Given the description of an element on the screen output the (x, y) to click on. 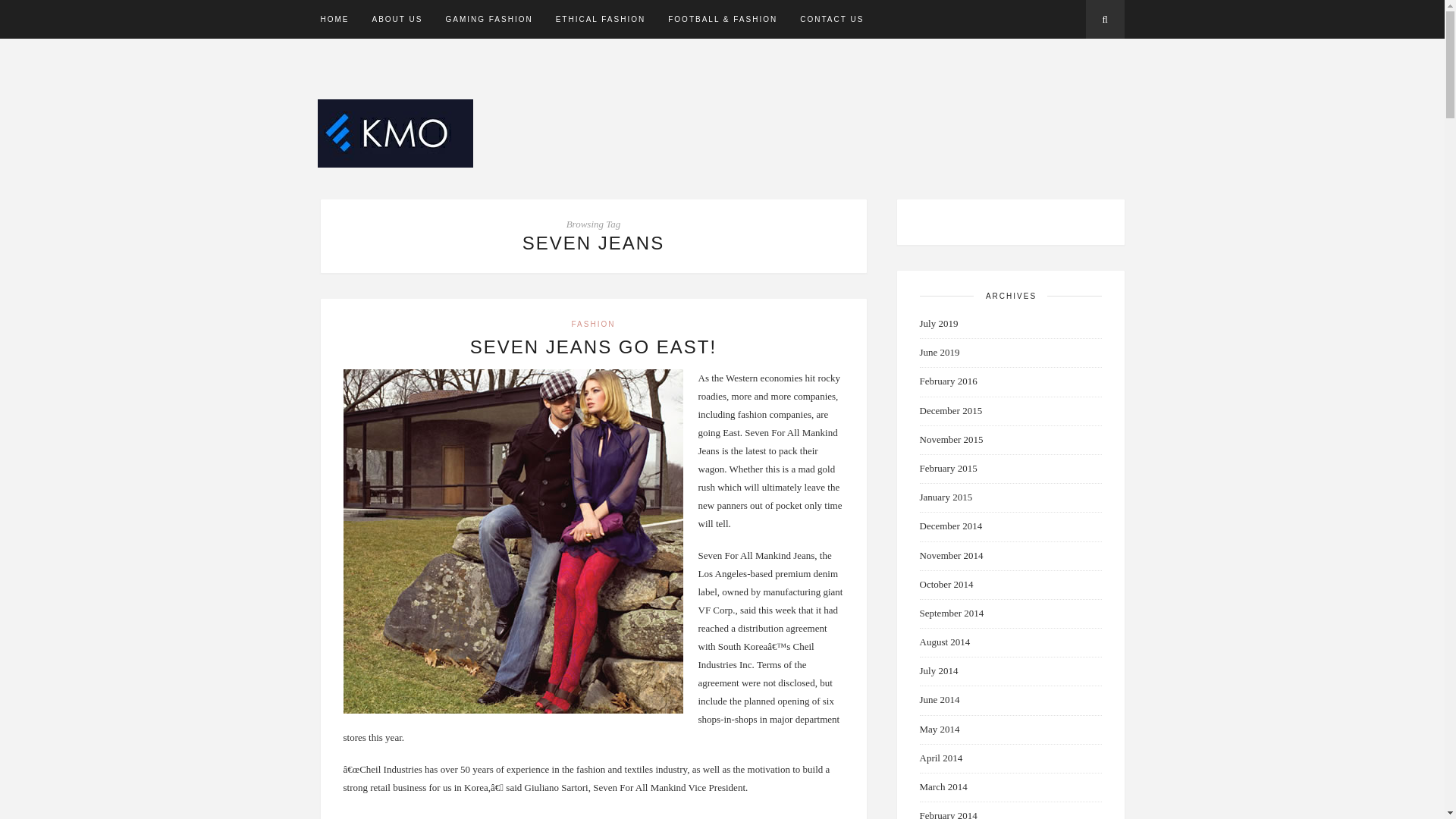
ETHICAL FASHION (601, 19)
February 2016 (947, 380)
SEVEN JEANS GO EAST! (593, 346)
Advertisement (843, 102)
CONTACT US (831, 19)
FASHION (593, 324)
ABOUT US (396, 19)
July 2019 (938, 323)
June 2019 (938, 351)
GAMING FASHION (488, 19)
December 2015 (949, 410)
